Given the description of an element on the screen output the (x, y) to click on. 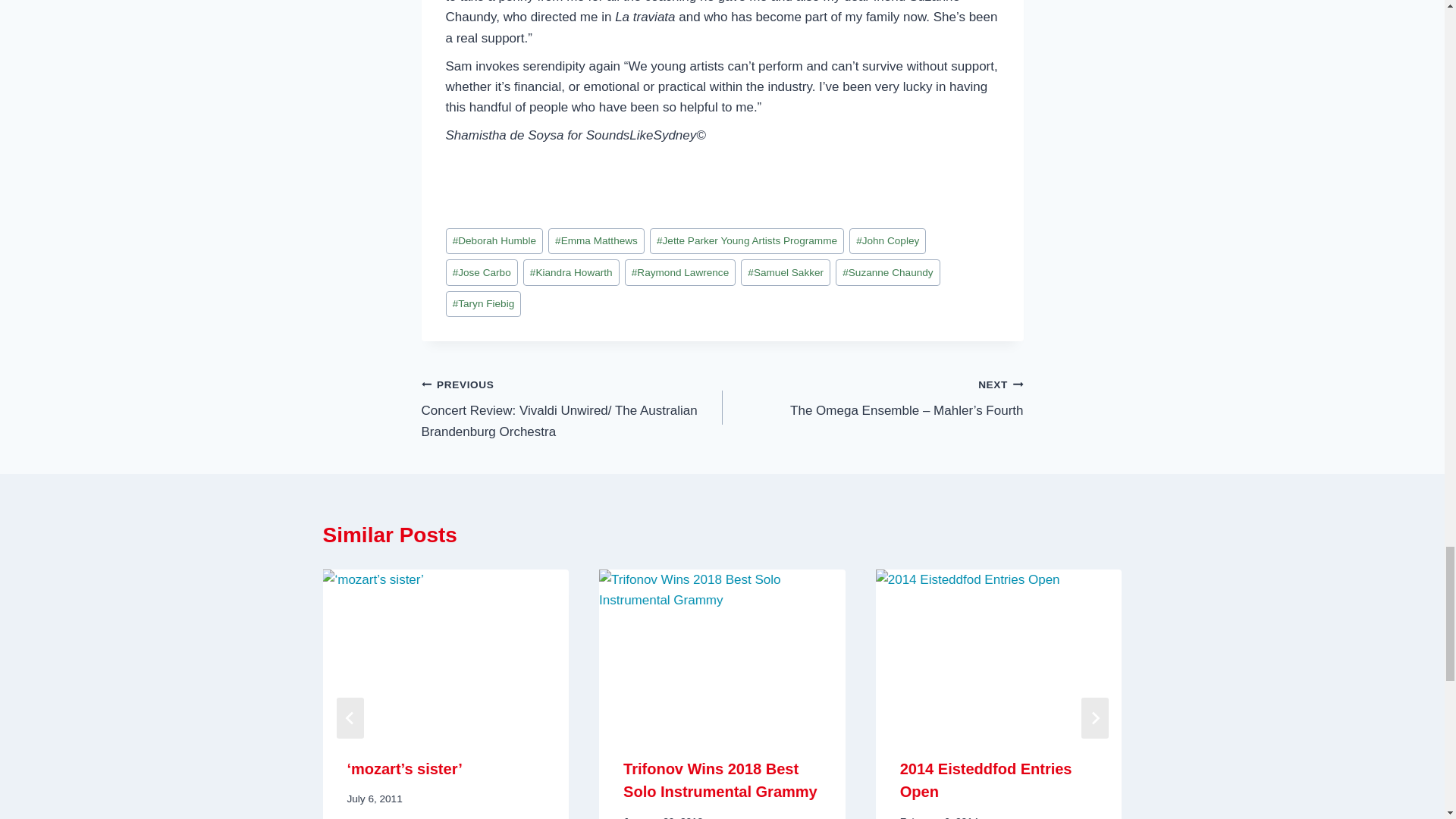
Raymond Lawrence (680, 272)
Samuel Sakker (785, 272)
Taryn Fiebig (483, 304)
Deborah Humble (494, 241)
Jose Carbo (481, 272)
Kiandra Howarth (571, 272)
John Copley (887, 241)
Jette Parker Young Artists Programme (746, 241)
Suzanne Chaundy (887, 272)
Emma Matthews (596, 241)
